Given the description of an element on the screen output the (x, y) to click on. 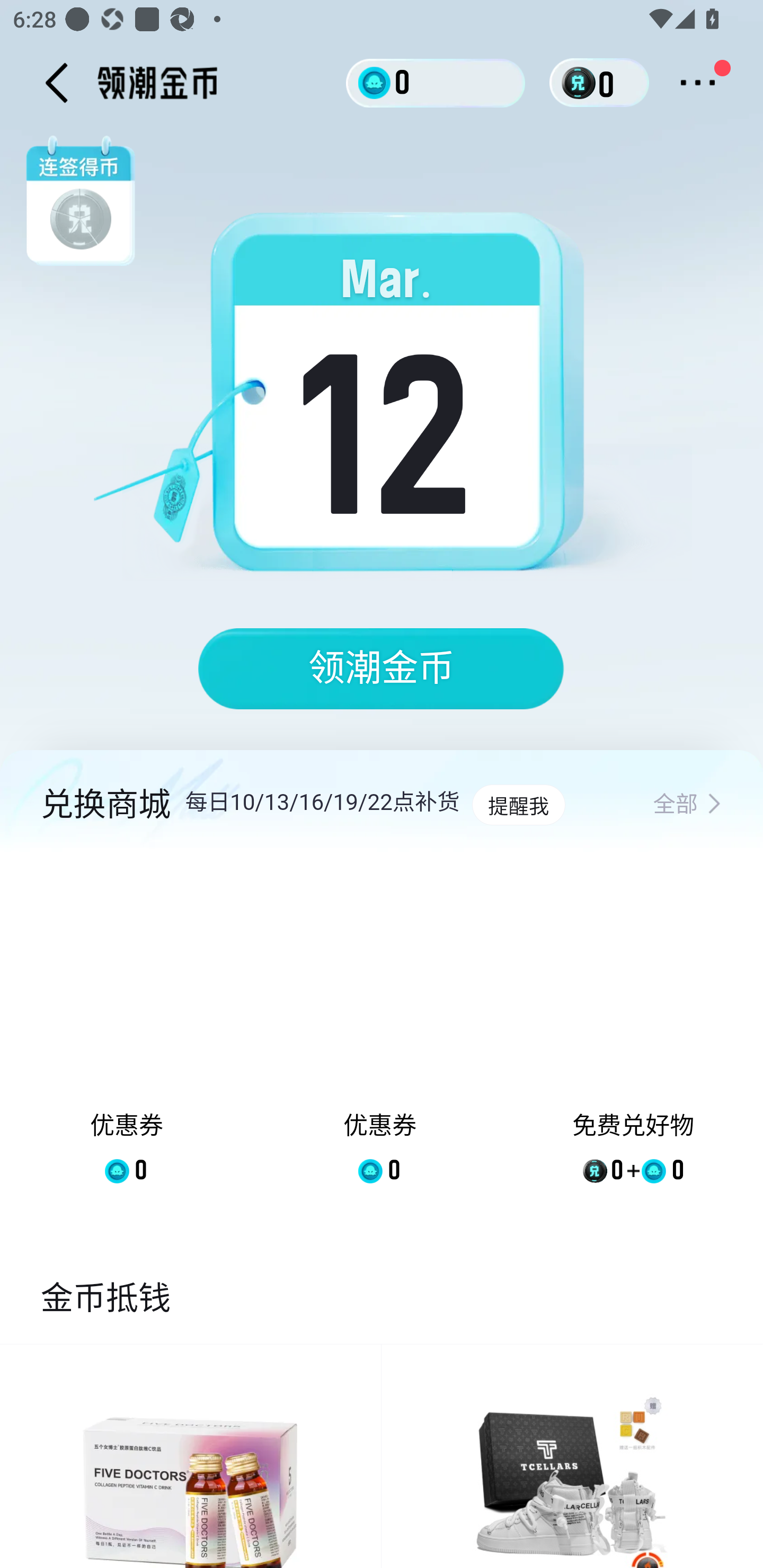
0 (435, 82)
format,webp 0 (581, 83)
已连续签到0天 (387, 403)
领潮金币 (381, 668)
提醒我 (518, 805)
全部 (687, 804)
优惠券 0 (127, 1031)
优惠券 0 (379, 1031)
免费兑好物 0 0 (633, 1031)
